Given the description of an element on the screen output the (x, y) to click on. 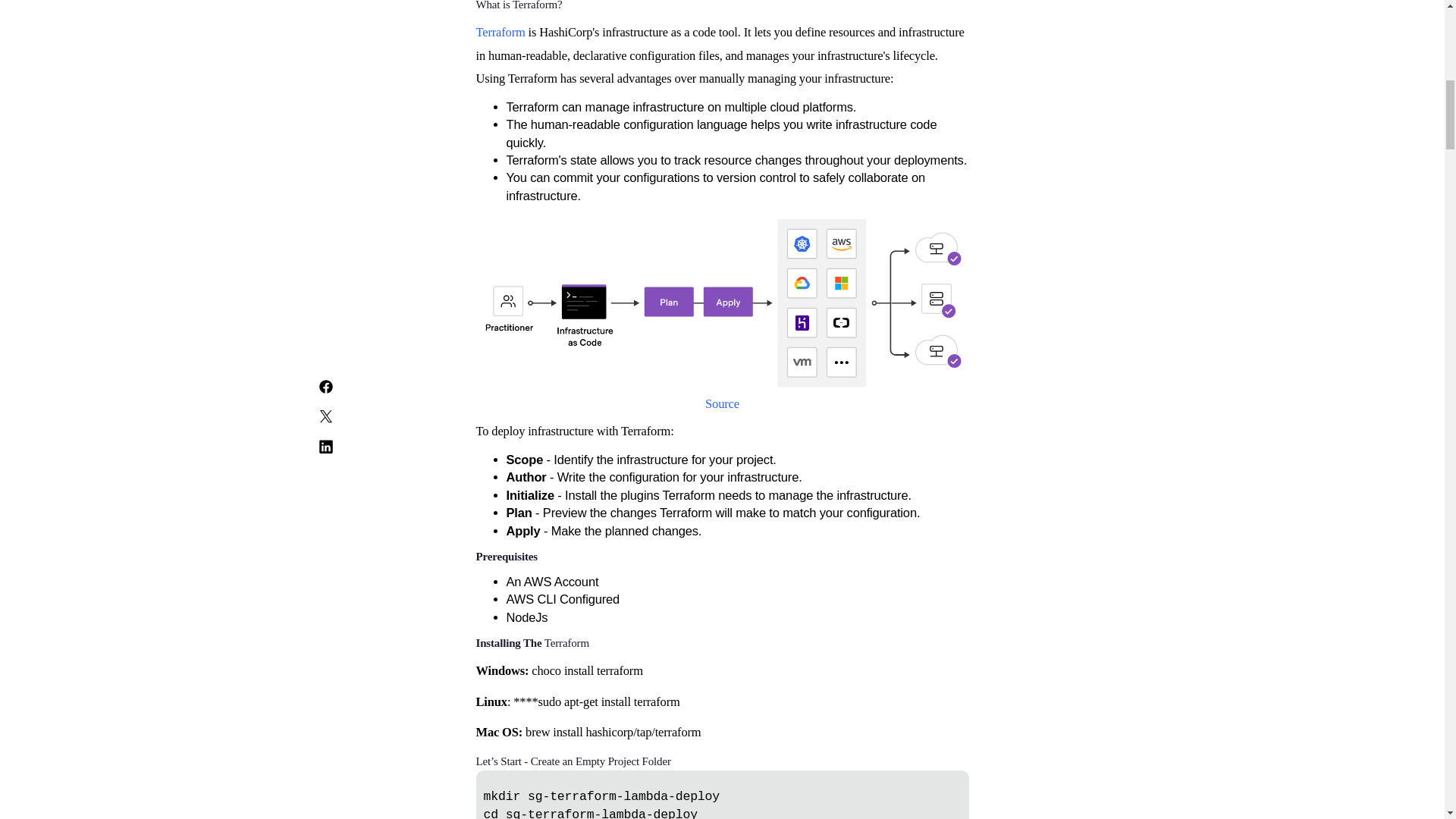
Source (721, 403)
Terraform (500, 32)
